Given the description of an element on the screen output the (x, y) to click on. 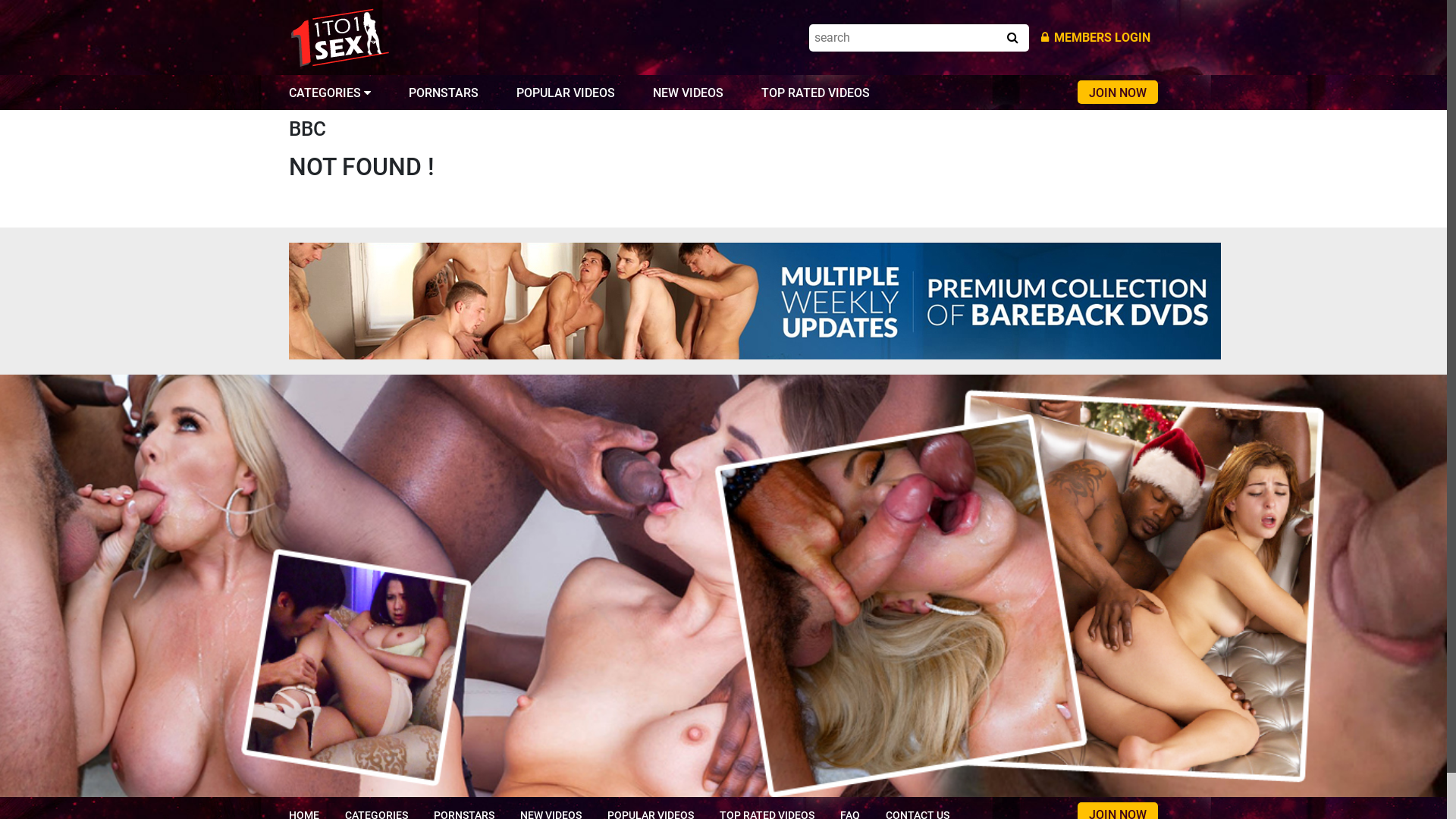
JOIN NOW Element type: text (1117, 91)
MEMBERS LOGIN Element type: text (1095, 37)
TOP RATED VIDEOS Element type: text (815, 92)
POPULAR VIDEOS Element type: text (565, 92)
PORNSTARS Element type: text (443, 92)
CATEGORIES Element type: text (329, 92)
NEW VIDEOS Element type: text (687, 92)
